Given the description of an element on the screen output the (x, y) to click on. 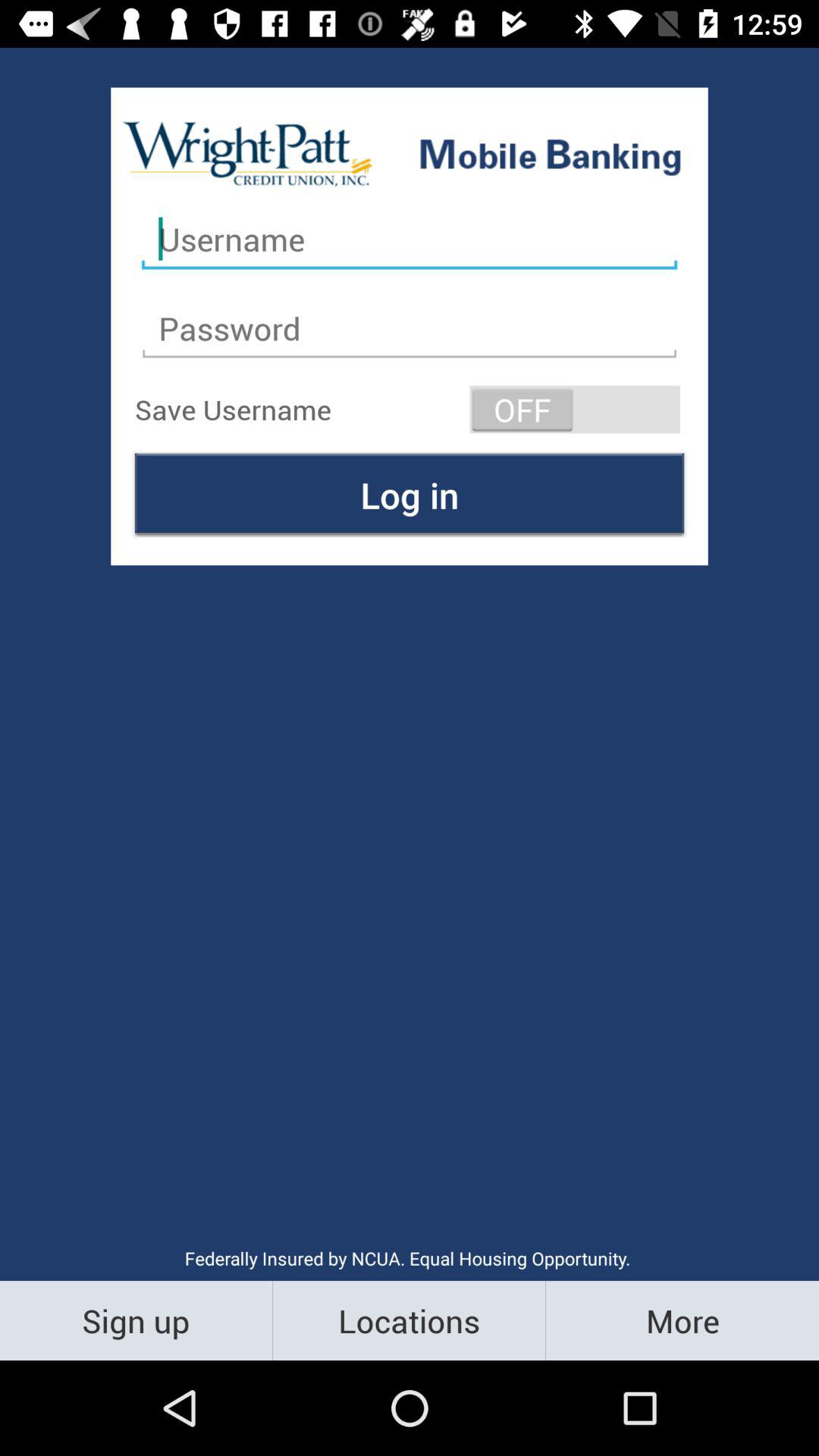
turn off the locations (409, 1320)
